Given the description of an element on the screen output the (x, y) to click on. 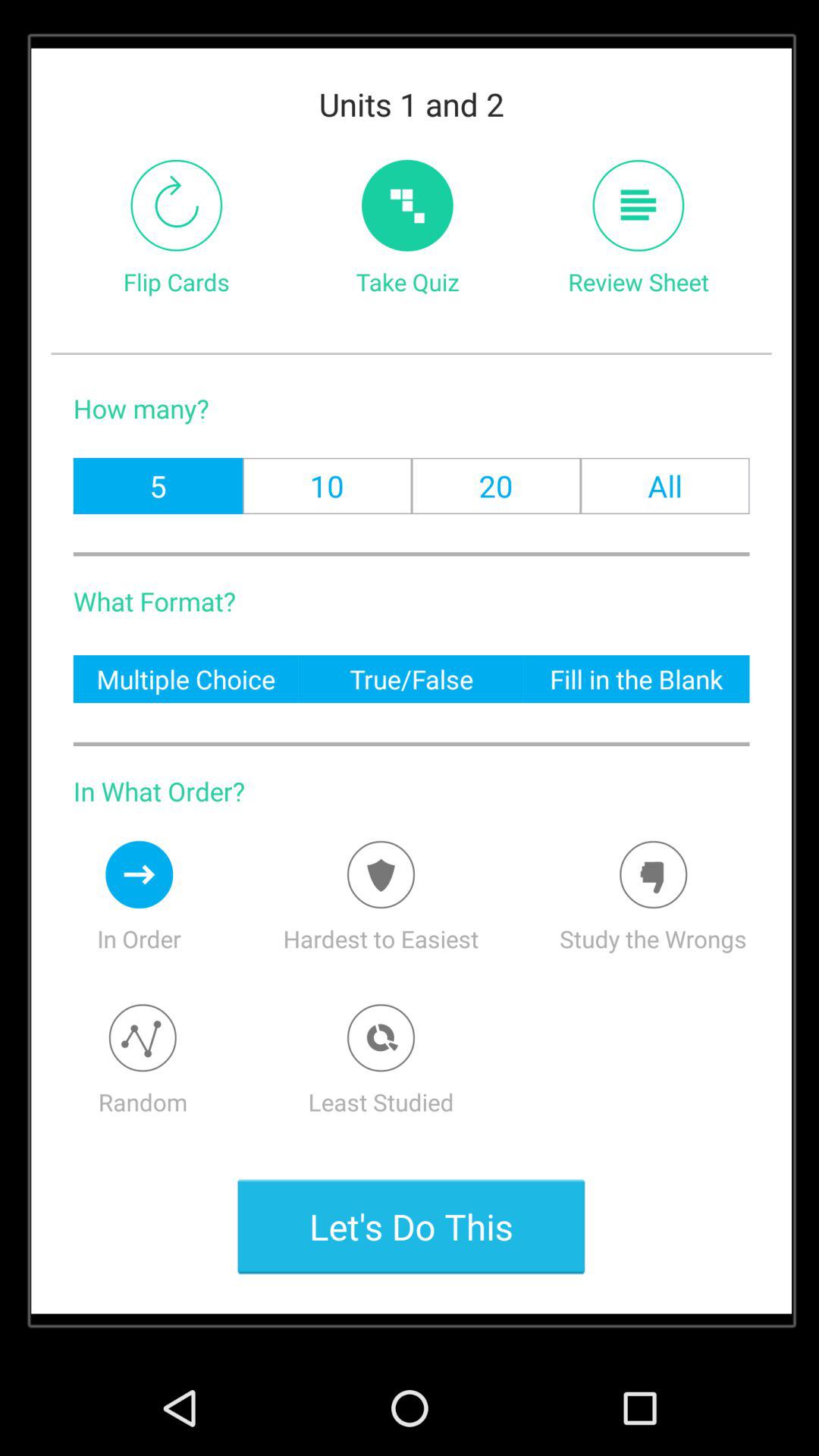
study questions you got wrong (653, 874)
